Given the description of an element on the screen output the (x, y) to click on. 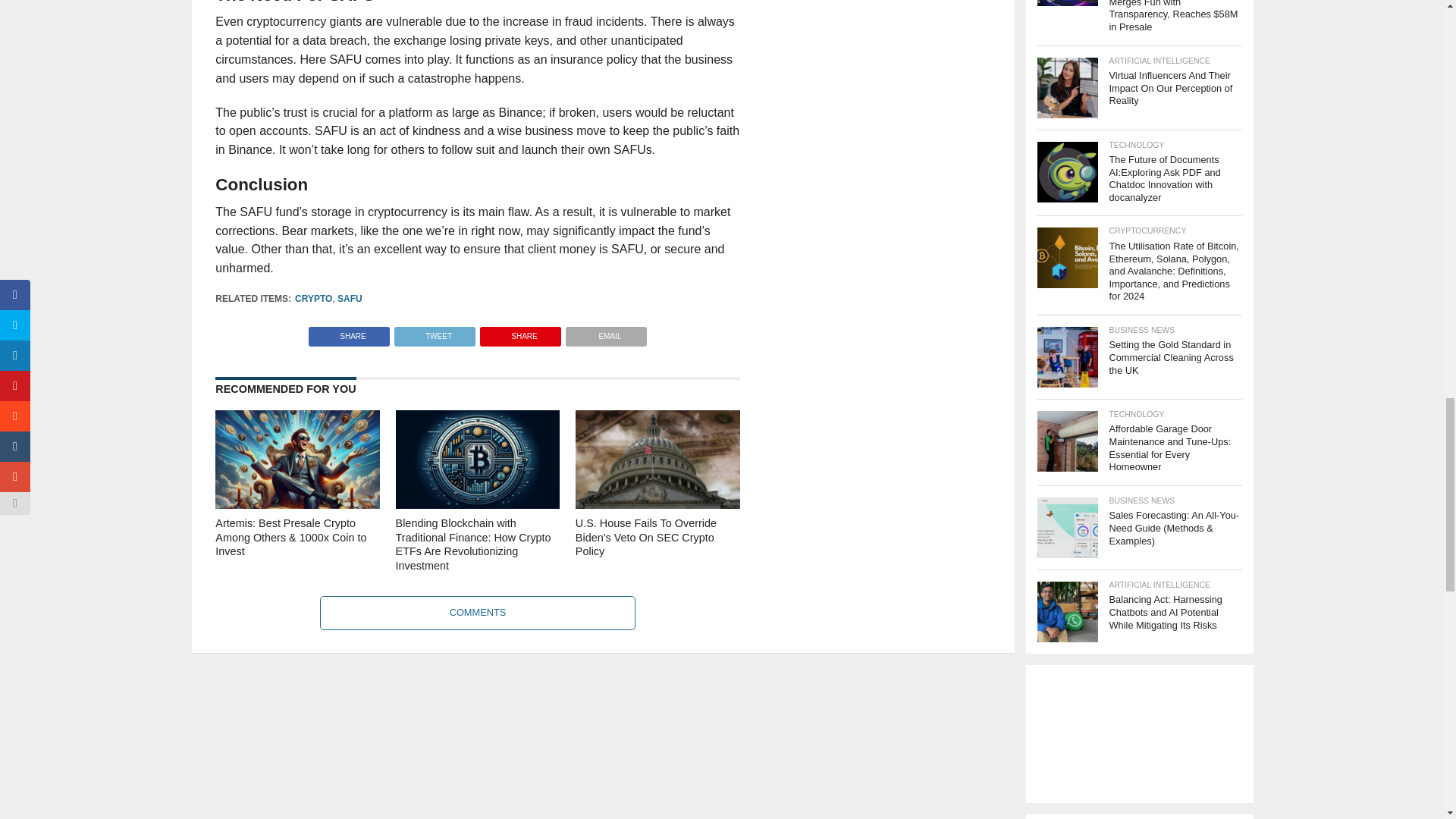
Pin This Post (520, 332)
Tweet This Post (434, 332)
Share on Facebook (349, 332)
